Given the description of an element on the screen output the (x, y) to click on. 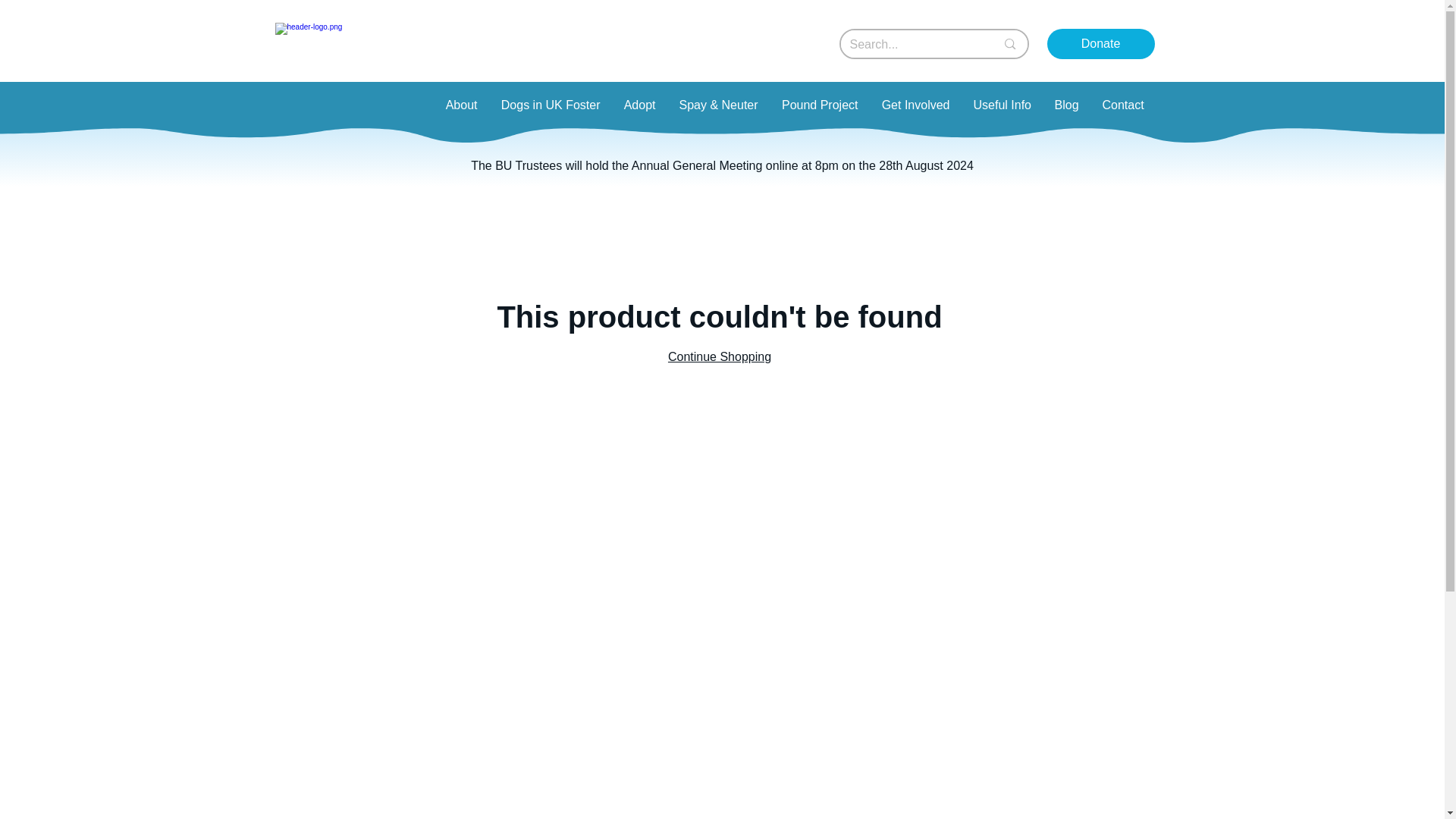
Pound Project (818, 104)
Contact (1123, 104)
Donate (1100, 43)
Get Involved (914, 104)
Blog (1065, 104)
About (461, 104)
Adopt (638, 104)
Useful Info (1001, 104)
Dogs in UK Foster (549, 104)
Continue Shopping (719, 356)
